Given the description of an element on the screen output the (x, y) to click on. 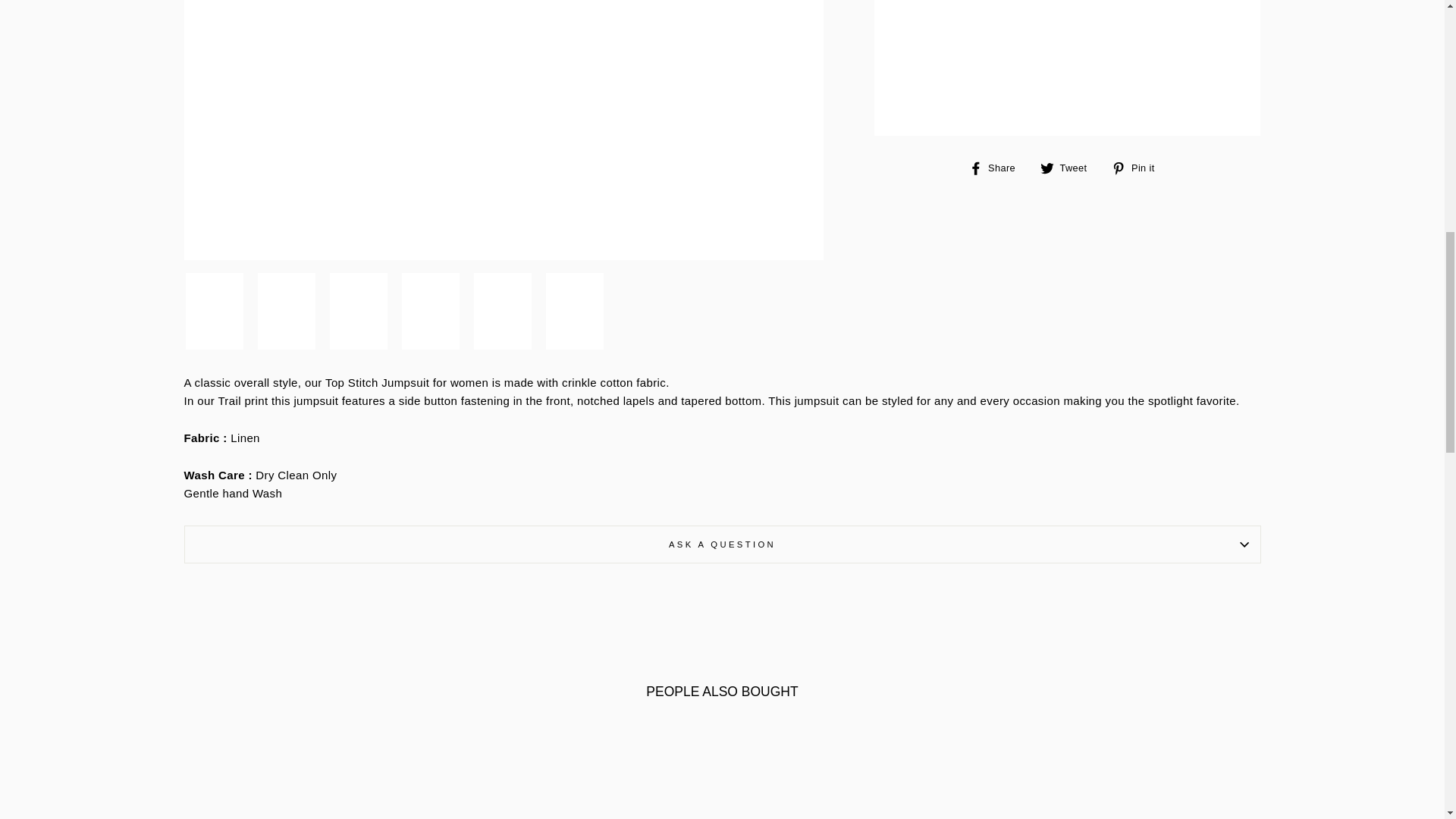
Pin on Pinterest (1139, 167)
Tweet on Twitter (1069, 167)
Share on Facebook (997, 167)
